Given the description of an element on the screen output the (x, y) to click on. 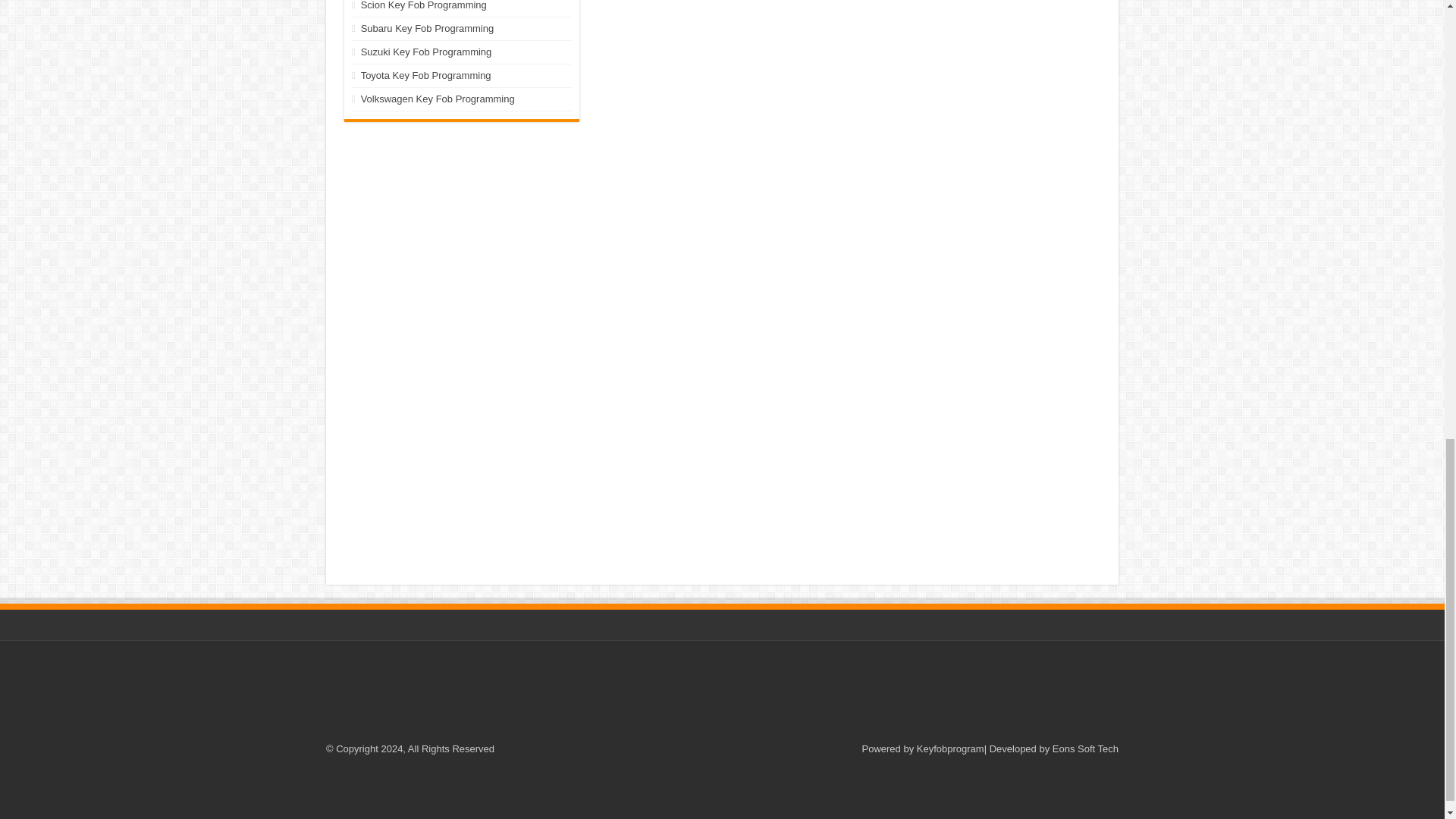
Subaru Key Fob Programming (428, 28)
Scion Key Fob Programming (423, 5)
Volkswagen Key Fob Programming (438, 98)
Suzuki Key Fob Programming (426, 51)
Toyota Key Fob Programming (426, 75)
Advertisement (721, 791)
Advertisement (461, 224)
Advertisement (721, 694)
